Given the description of an element on the screen output the (x, y) to click on. 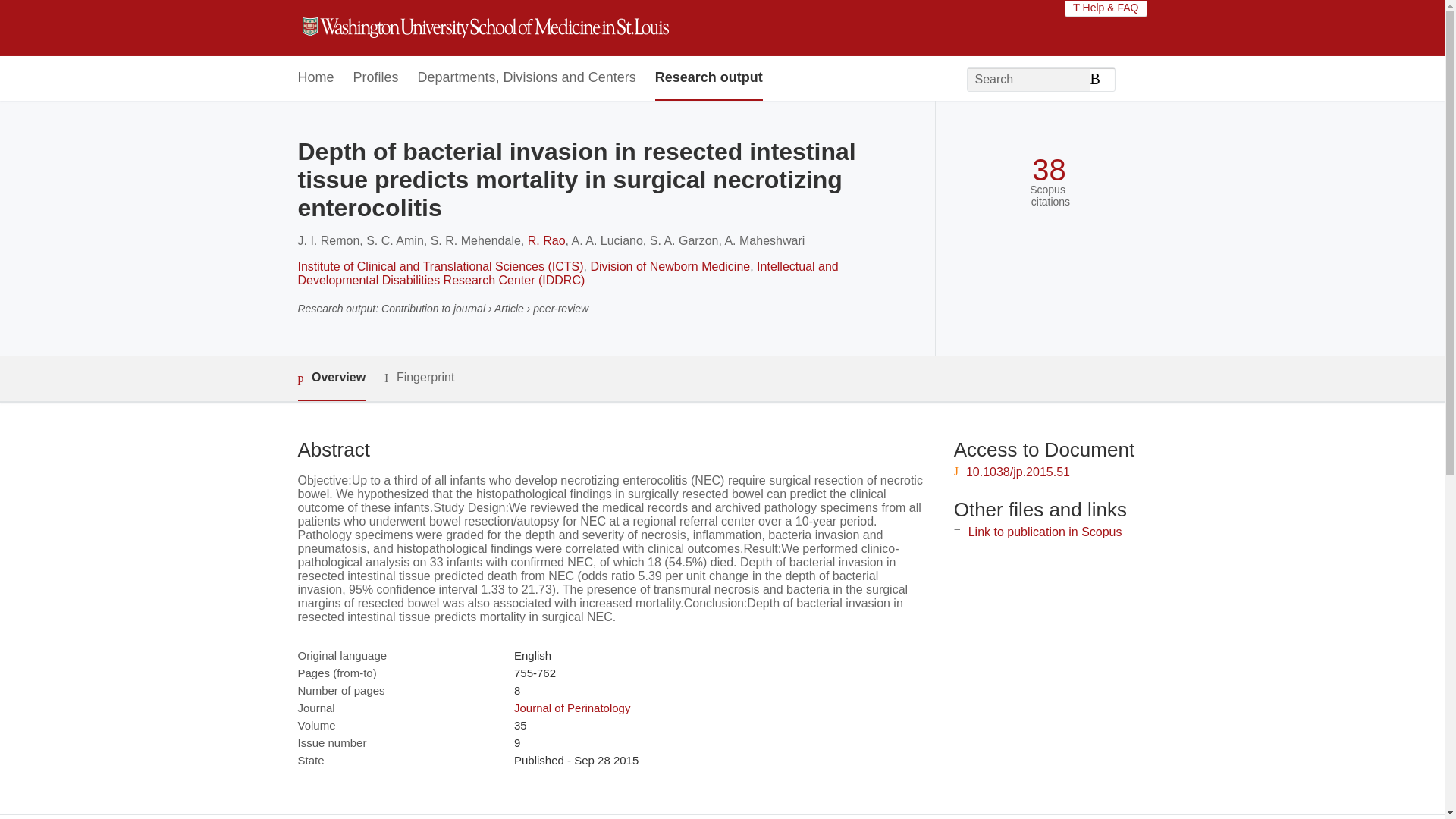
Journal of Perinatology (571, 707)
Departments, Divisions and Centers (526, 78)
Overview (331, 378)
Division of Newborn Medicine (669, 266)
Research output (708, 78)
38 (1048, 170)
R. Rao (546, 240)
Fingerprint (419, 377)
Link to publication in Scopus (1045, 531)
Profiles (375, 78)
